Given the description of an element on the screen output the (x, y) to click on. 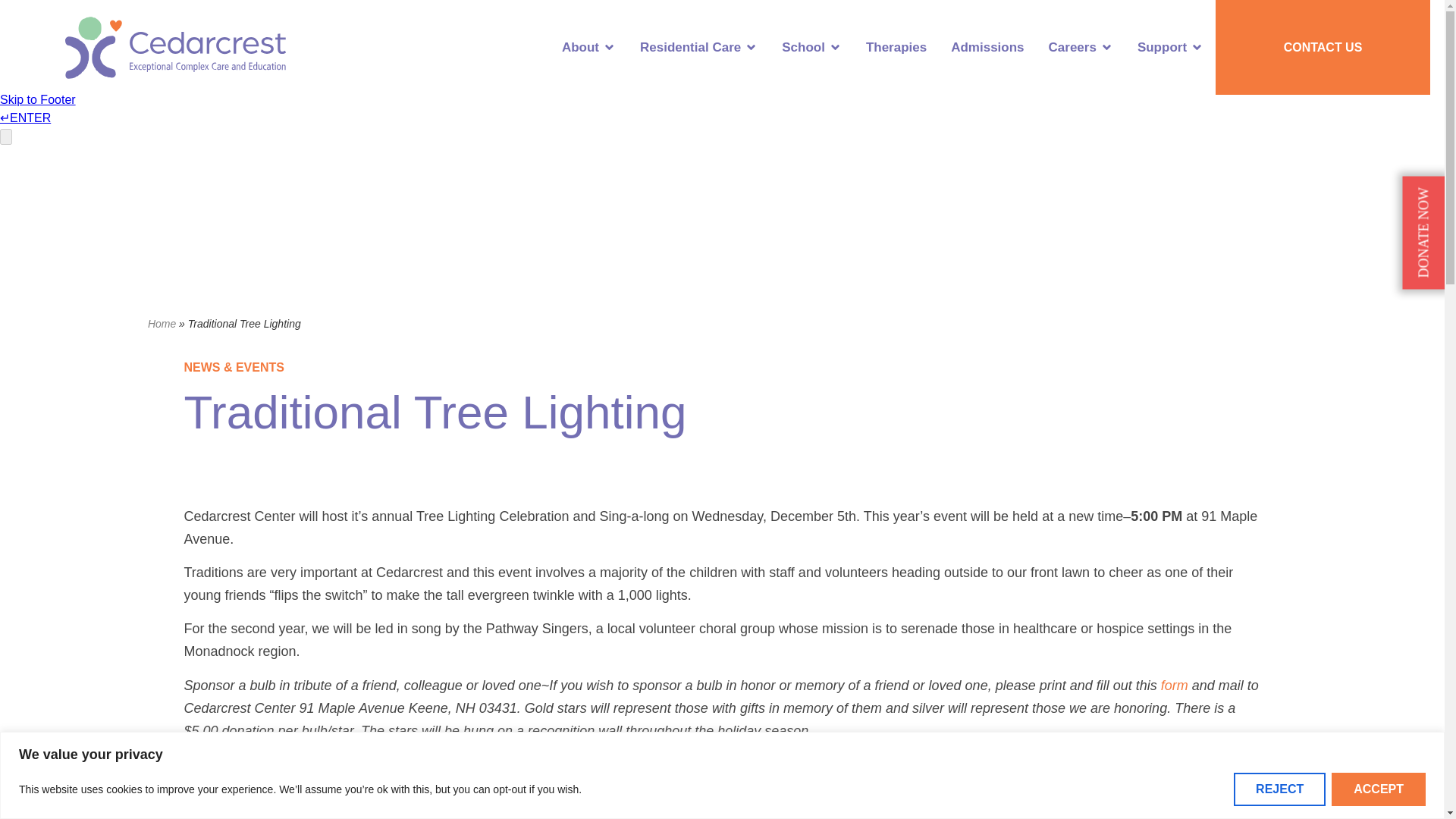
About (580, 47)
Admissions (986, 47)
REJECT (1278, 788)
Therapies (896, 47)
Residential Care (690, 47)
Support (1161, 47)
Careers (1072, 47)
School (803, 47)
ACCEPT (1378, 788)
